Given the description of an element on the screen output the (x, y) to click on. 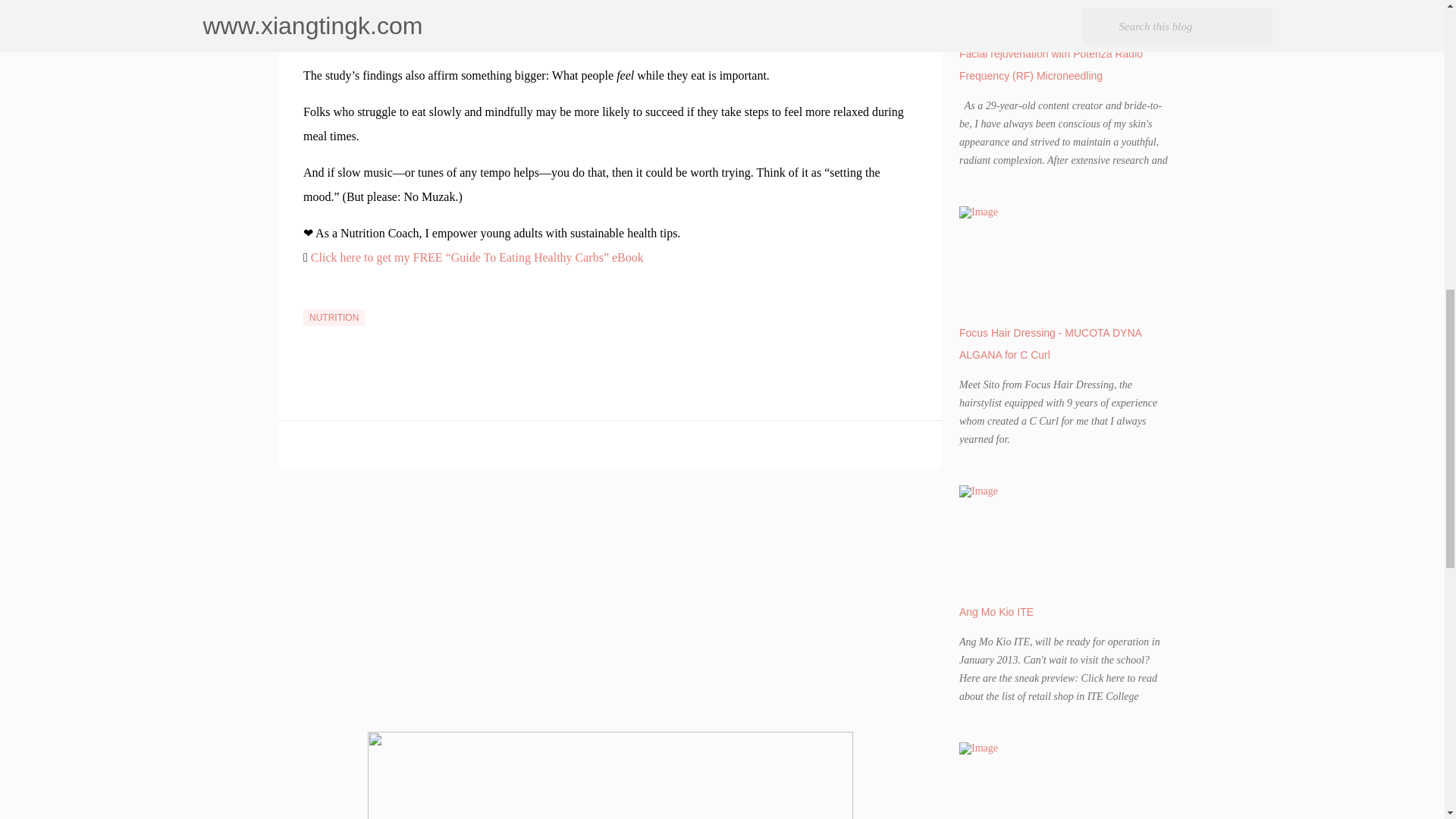
Ang Mo Kio ITE (996, 612)
NUTRITION (333, 317)
Focus Hair Dressing - MUCOTA DYNA ALGANA for C Curl (1050, 343)
